Given the description of an element on the screen output the (x, y) to click on. 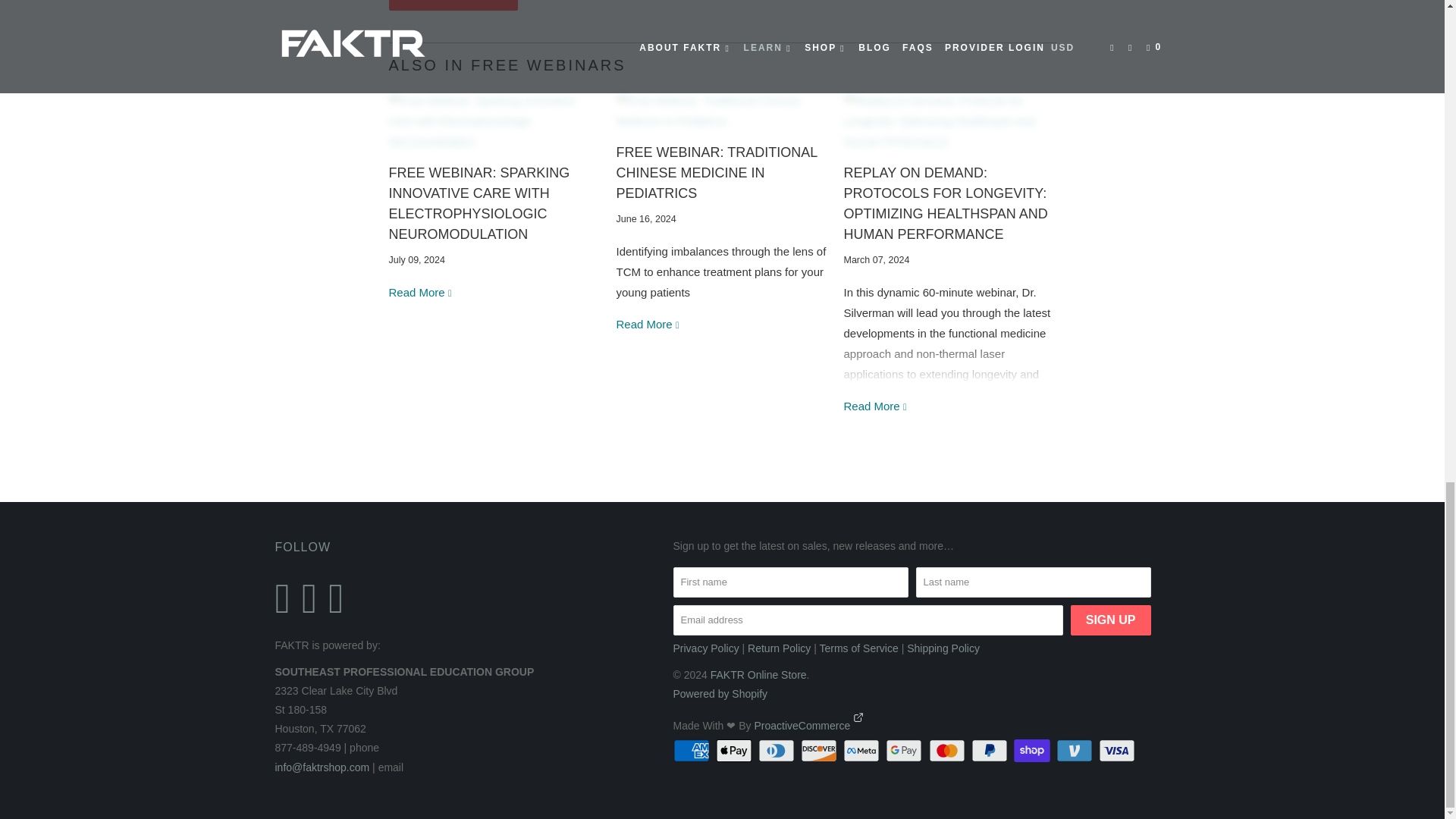
Shop Pay (1032, 750)
Free Webinar: Traditional Chinese Medicine in Pediatrics (647, 323)
Sign Up (1110, 620)
Visa (1118, 750)
Post comment (453, 5)
Free Webinar: Traditional Chinese Medicine in Pediatrics (715, 172)
Mastercard (948, 750)
American Express (692, 750)
